Given the description of an element on the screen output the (x, y) to click on. 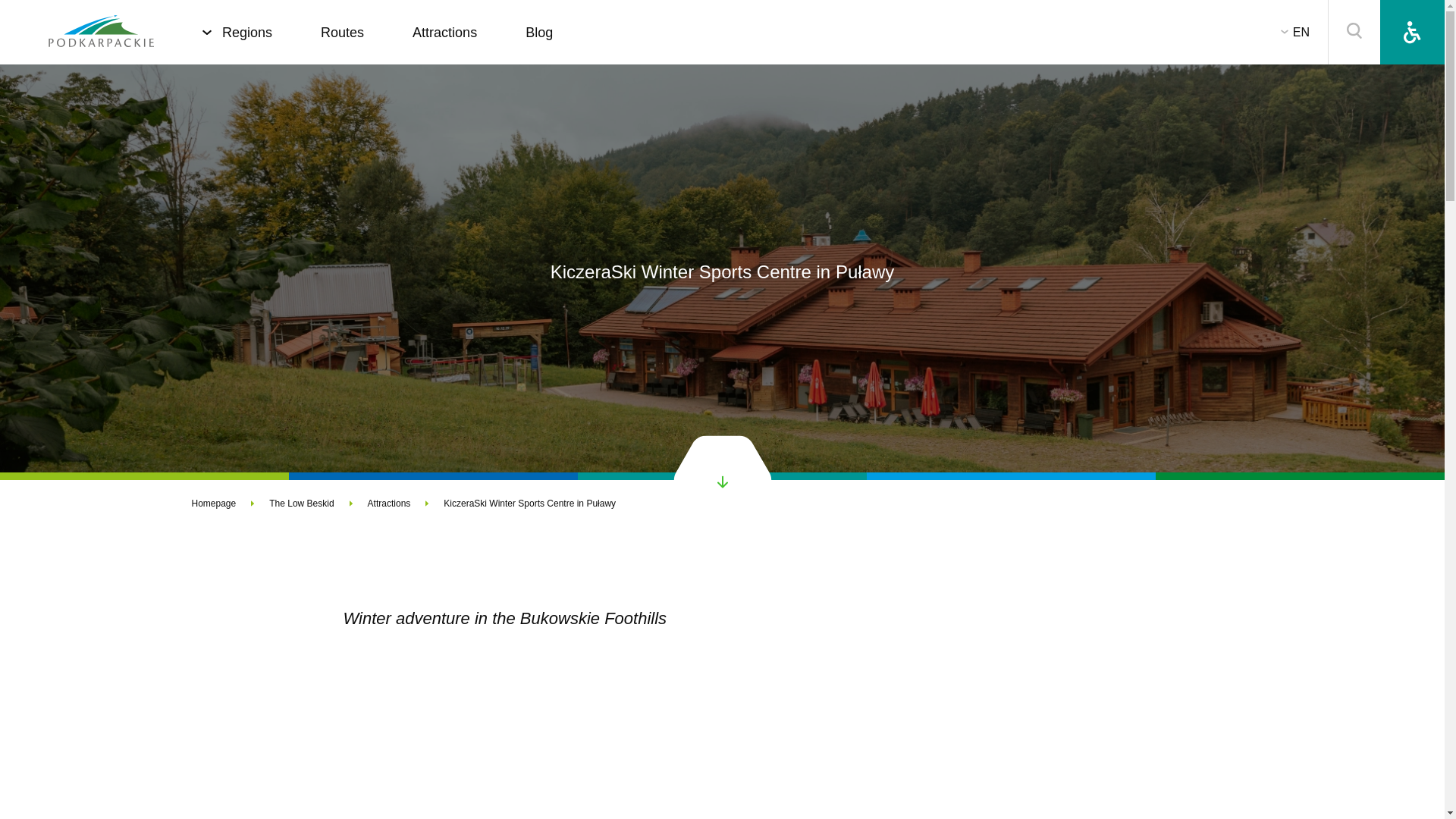
Attractions (444, 31)
Blog (539, 31)
Regions (247, 31)
Routes (342, 31)
Homepage (101, 32)
Attractions (406, 502)
Homepage (229, 502)
The Low Beskid (317, 502)
